Given the description of an element on the screen output the (x, y) to click on. 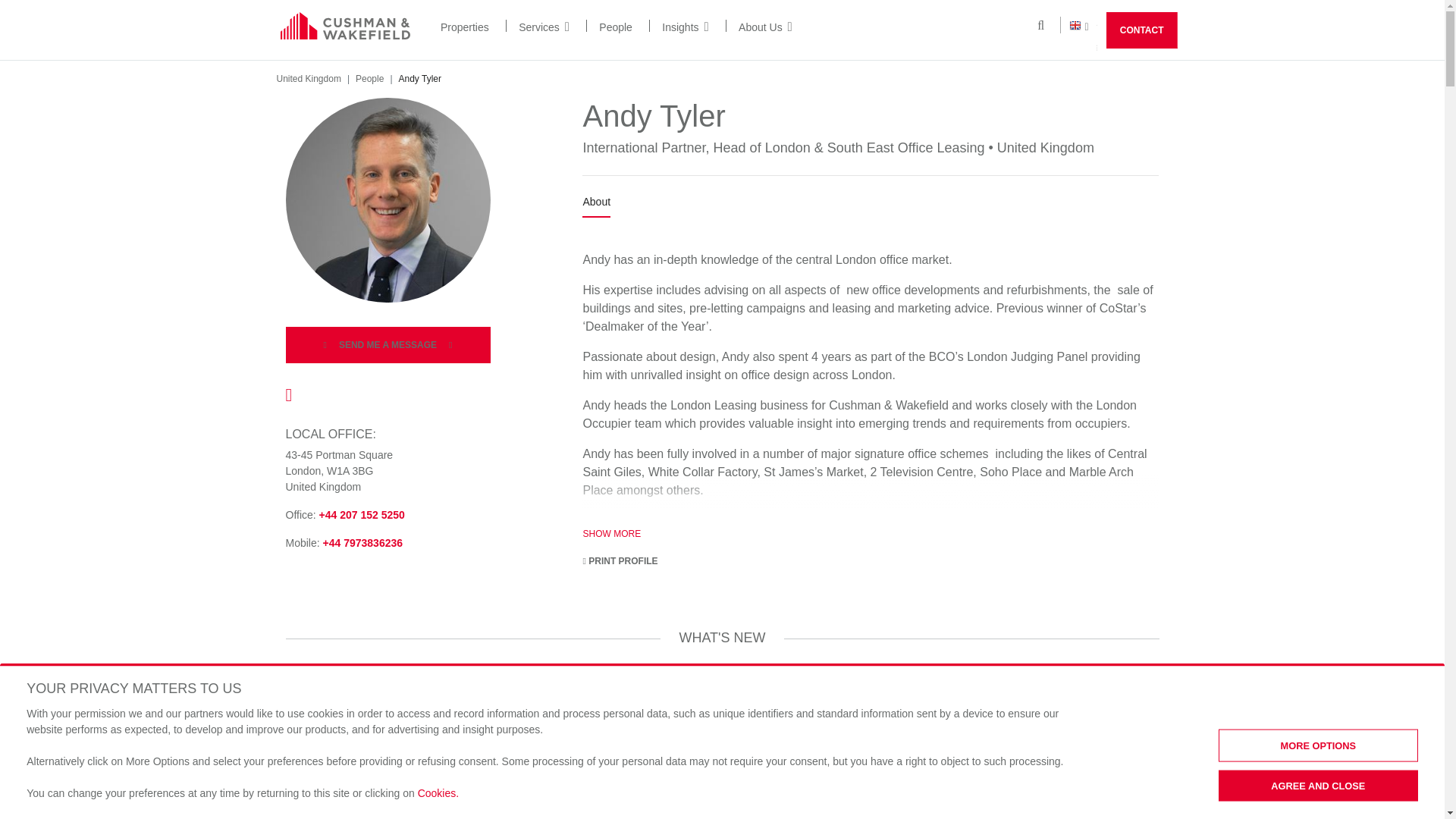
About Us (765, 27)
Insights (684, 27)
Properties (465, 27)
People (614, 27)
Services (543, 27)
